Given the description of an element on the screen output the (x, y) to click on. 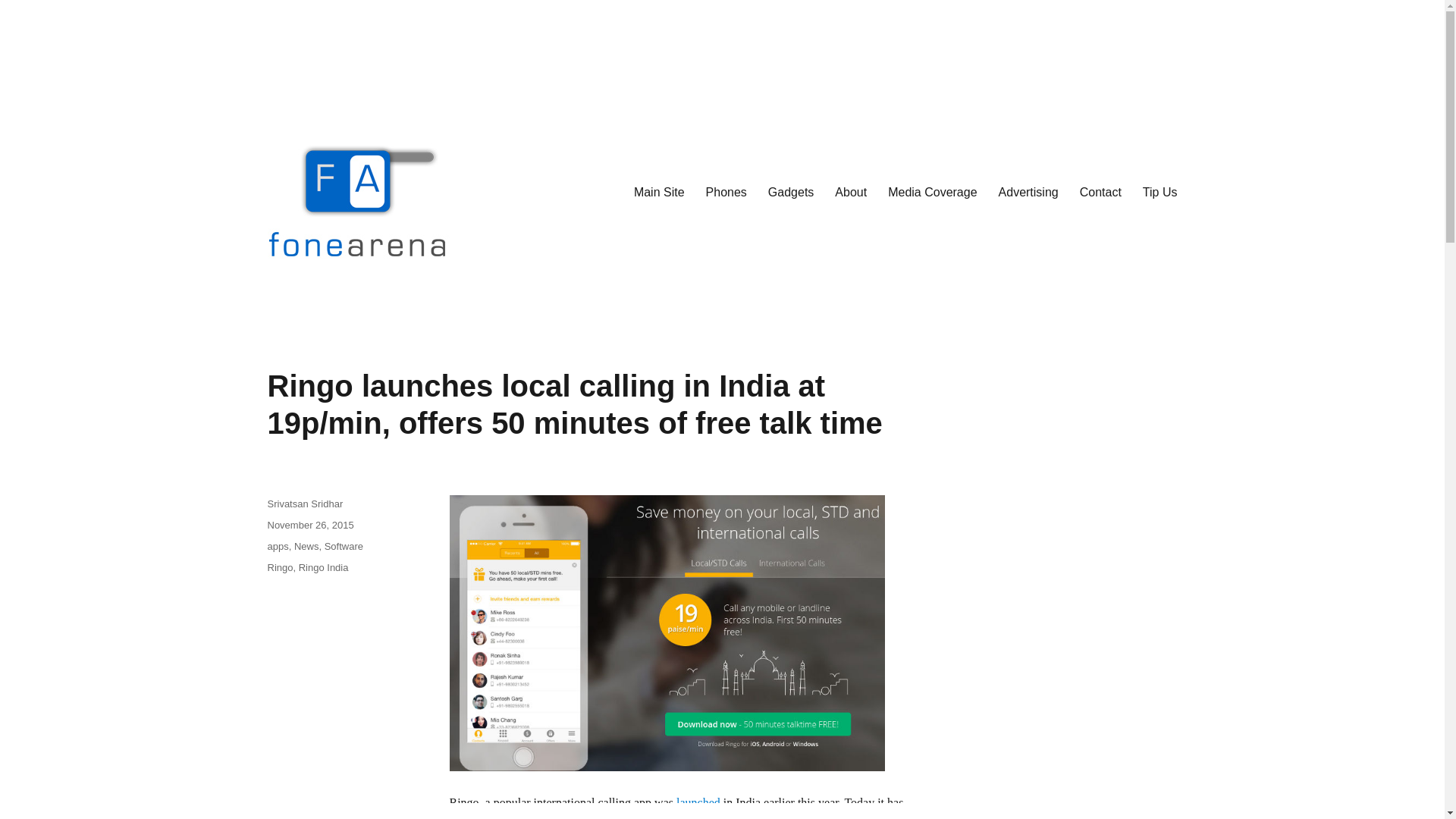
Srivatsan Sridhar (304, 503)
Advertising (1028, 192)
apps (277, 546)
Ringo India (323, 567)
Phones (726, 192)
November 26, 2015 (309, 524)
About (850, 192)
Main Site (659, 192)
launched (698, 802)
Contact (1100, 192)
